Given the description of an element on the screen output the (x, y) to click on. 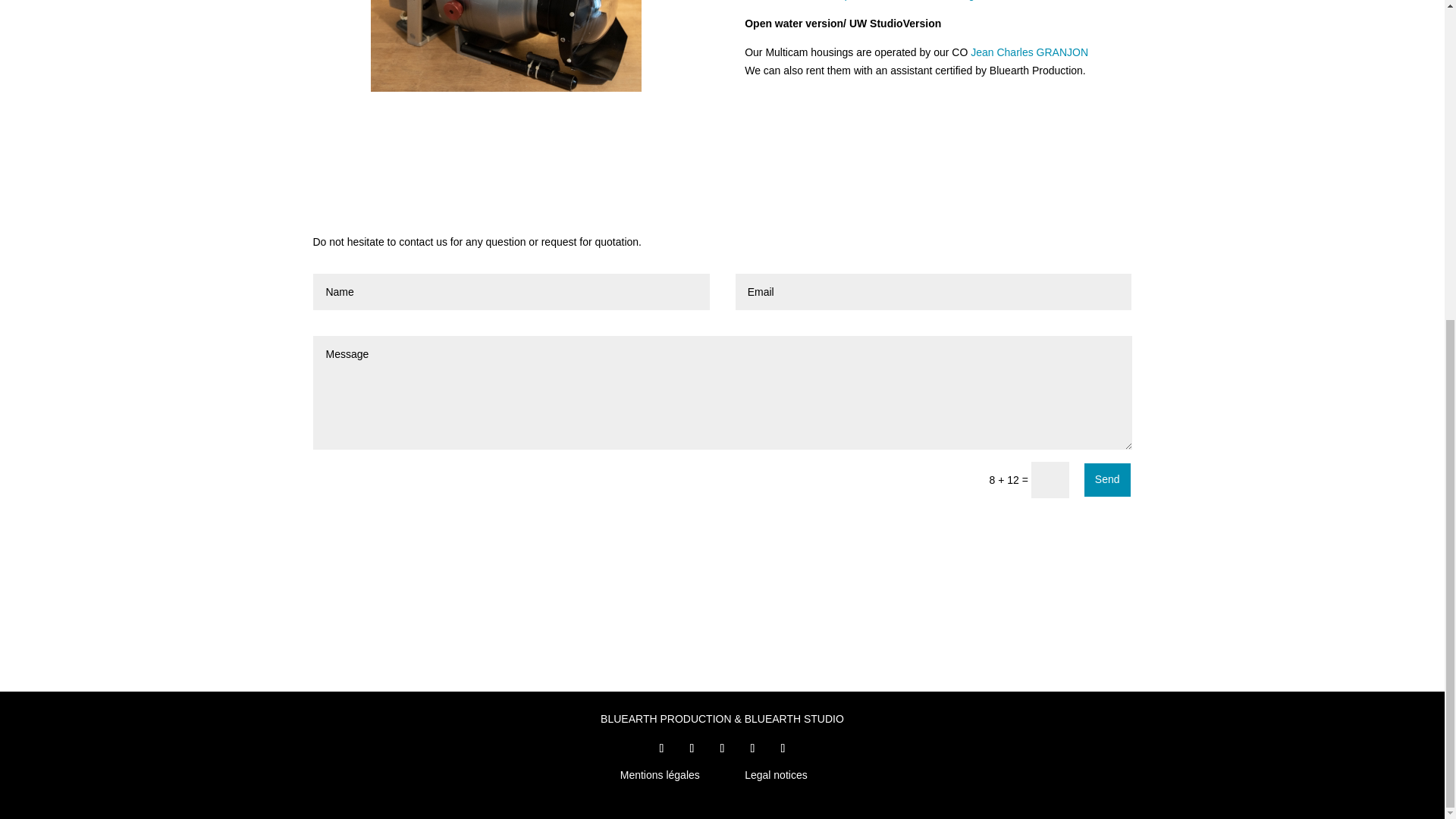
Follow on LinkedIn (782, 748)
Jean Charles GRANJON (1029, 51)
Follow on Twitter (751, 748)
Follow on Vimeo (721, 748)
Send (1107, 479)
CAN00001 (506, 45)
Follow on Facebook (660, 748)
Follow on Instagram (691, 748)
